Given the description of an element on the screen output the (x, y) to click on. 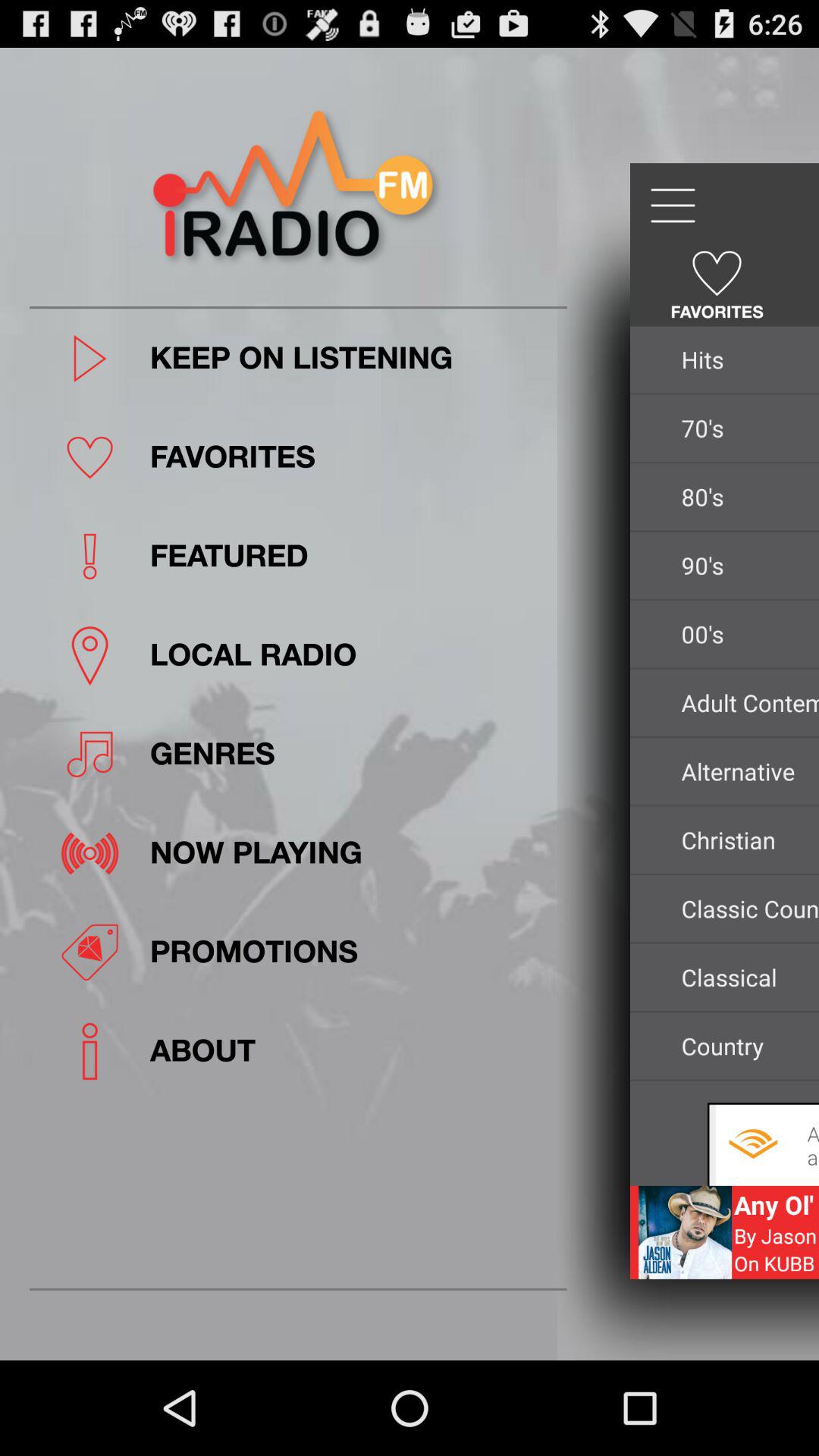
choose the item below genres (353, 853)
